Given the description of an element on the screen output the (x, y) to click on. 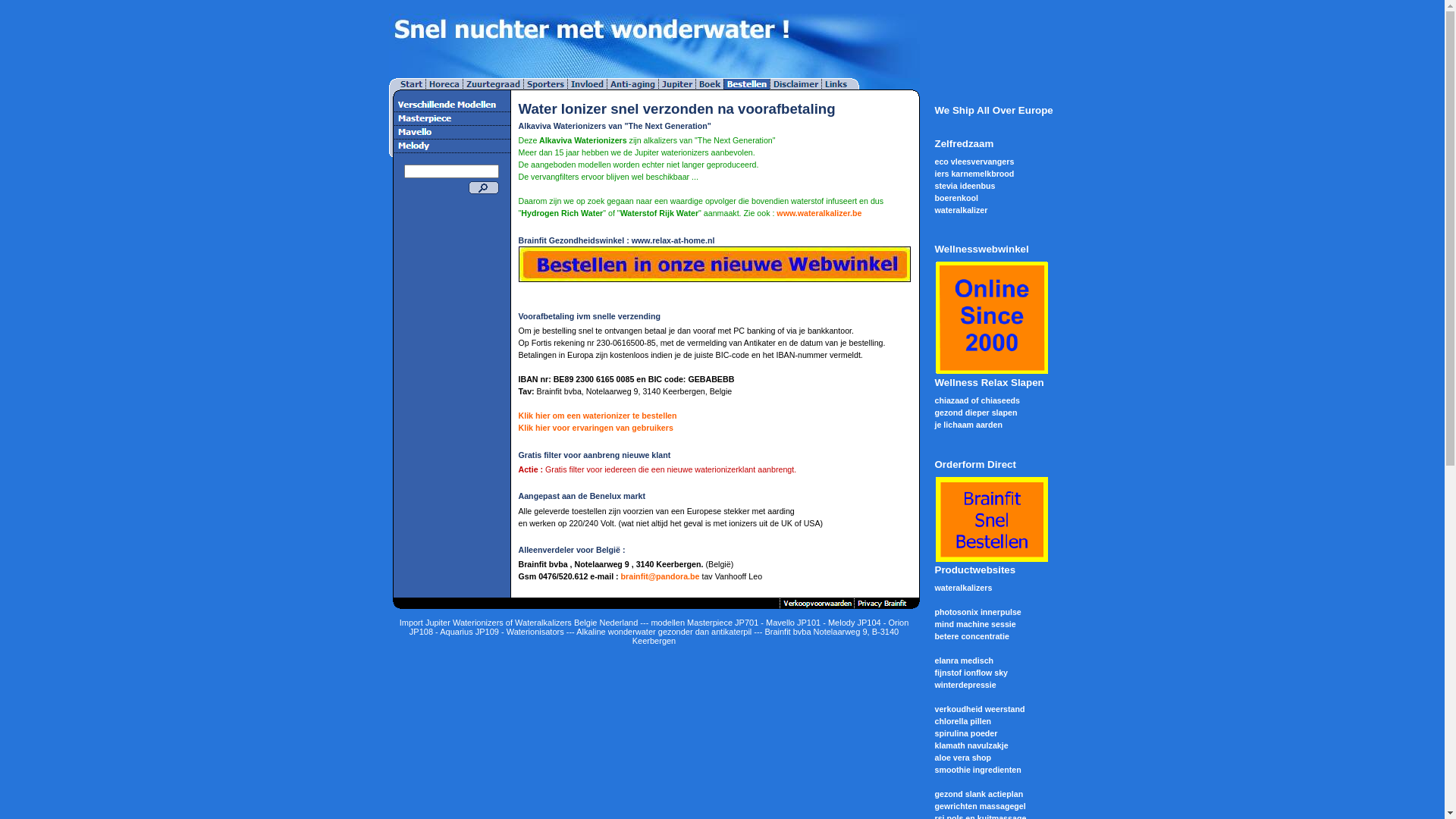
betere concentratie Element type: text (971, 635)
www.wateralkalizer.be Element type: text (818, 212)
iers karnemelkbrood Element type: text (973, 173)
wateralkalizers Element type: text (962, 587)
chiazaad of chiaseeds Element type: text (976, 399)
verkoudheid weerstand Element type: text (979, 708)
eco vleesvervangers Element type: text (973, 161)
gezond dieper slapen Element type: text (975, 412)
Klik hier voor ervaringen van gebruikers Element type: text (595, 427)
photosonix innerpulse Element type: text (977, 611)
je lichaam aarden Element type: text (967, 424)
stevia ideenbus Element type: text (964, 185)
chlorella pillen Element type: text (962, 720)
gewrichten massagegel Element type: text (979, 805)
mind machine sessie Element type: text (974, 623)
elanra medisch Element type: text (963, 660)
gezond slank actieplan Element type: text (978, 793)
aloe vera shop Element type: text (962, 757)
fijnstof ionflow sky Element type: text (970, 672)
smoothie ingredienten Element type: text (977, 769)
klamath navulzakje Element type: text (970, 744)
boerenkool Element type: text (955, 197)
winterdepressie Element type: text (964, 684)
wateralkalizer Element type: text (960, 209)
Klik hier om een waterionizer te bestellen Element type: text (597, 415)
spirulina poeder Element type: text (965, 732)
brainfit@pandora.be Element type: text (660, 575)
